Given the description of an element on the screen output the (x, y) to click on. 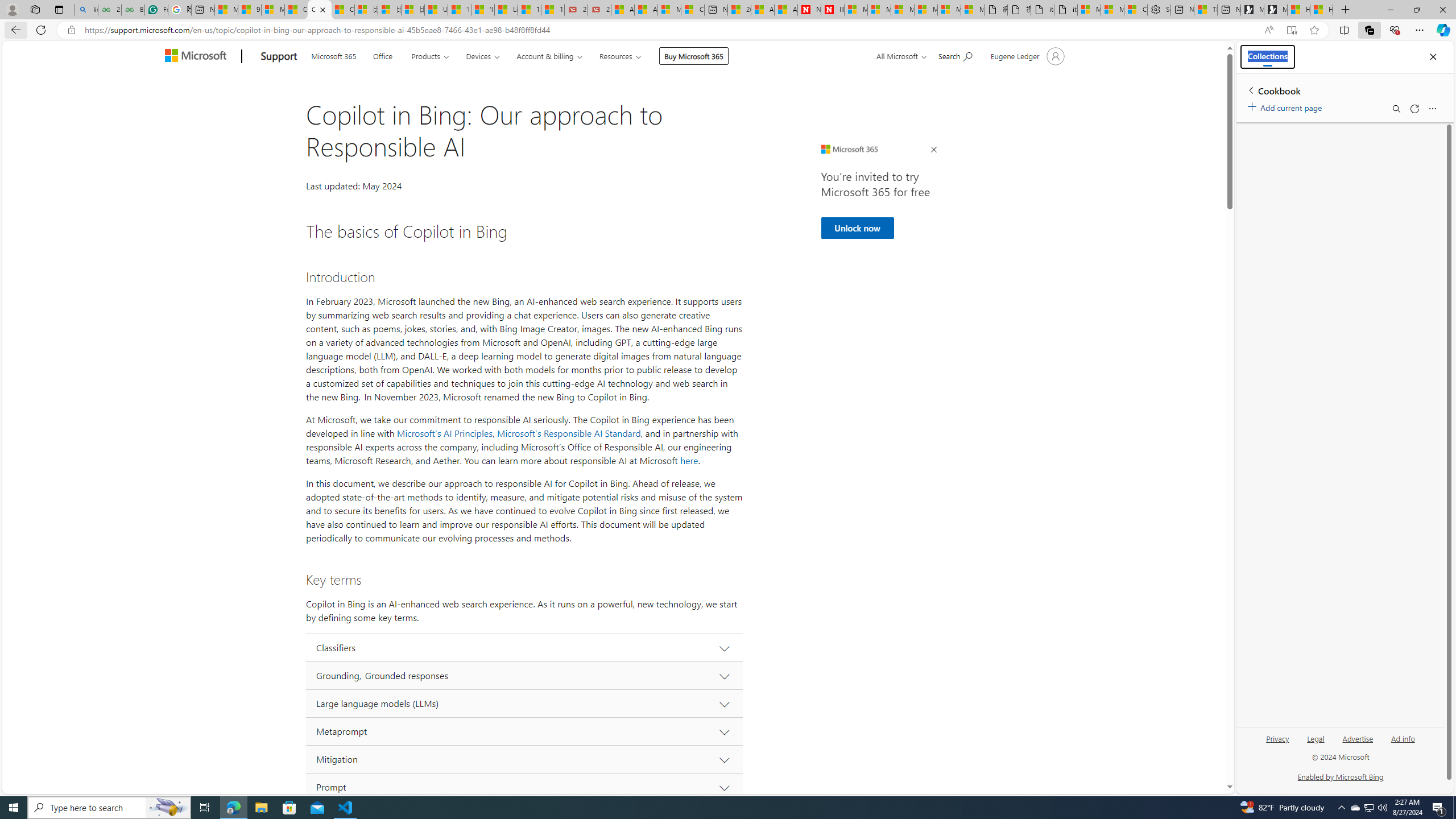
here (688, 460)
Office (382, 54)
Enter Immersive Reader (F9) (1291, 29)
Three Ways To Stop Sweating So Much (1205, 9)
linux basic - Search (86, 9)
